Given the description of an element on the screen output the (x, y) to click on. 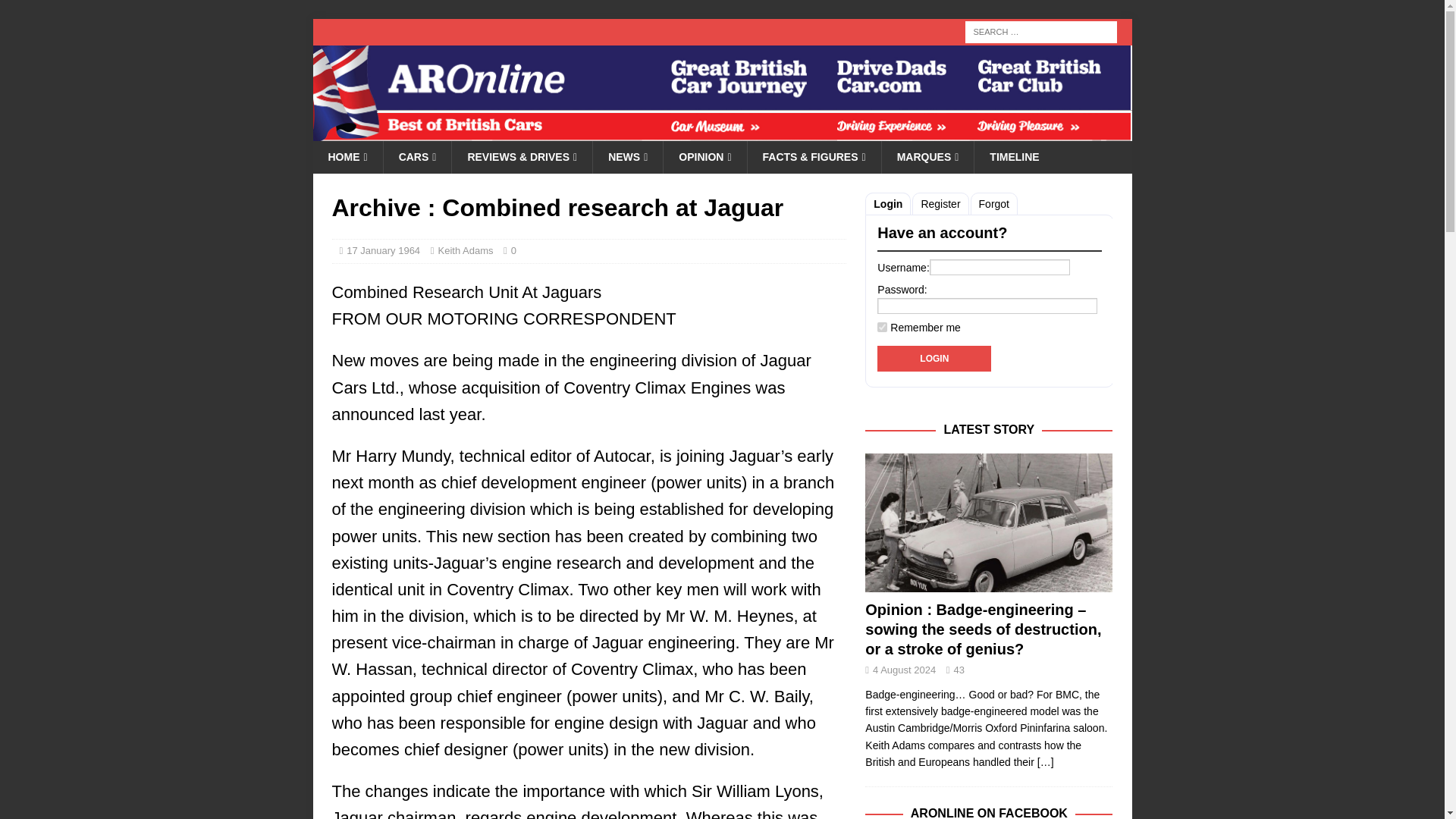
AROnline model histories (416, 156)
forever (881, 327)
Login (934, 358)
AROnline (722, 132)
Search (56, 11)
